Given the description of an element on the screen output the (x, y) to click on. 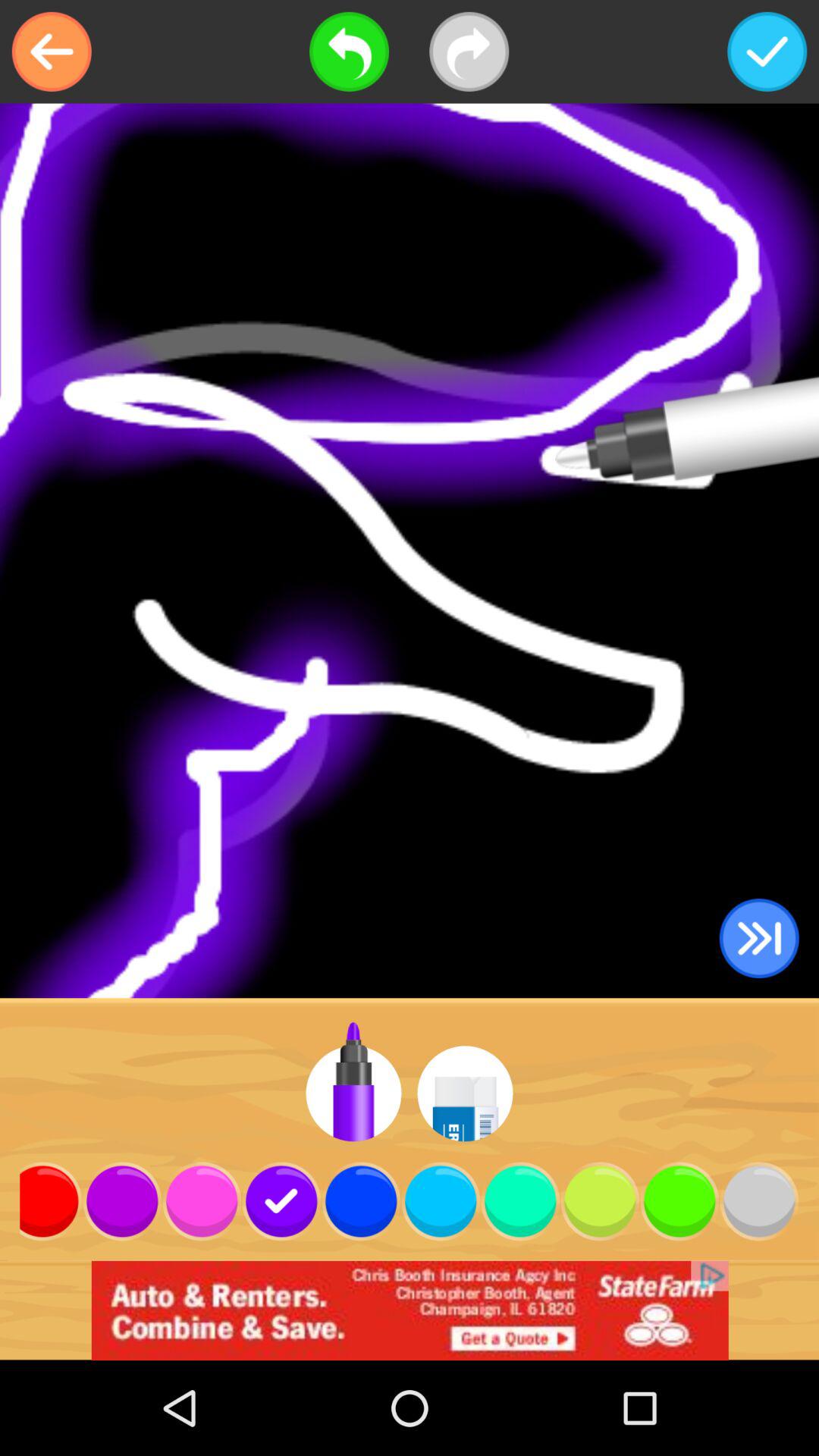
fast forward (759, 938)
